Given the description of an element on the screen output the (x, y) to click on. 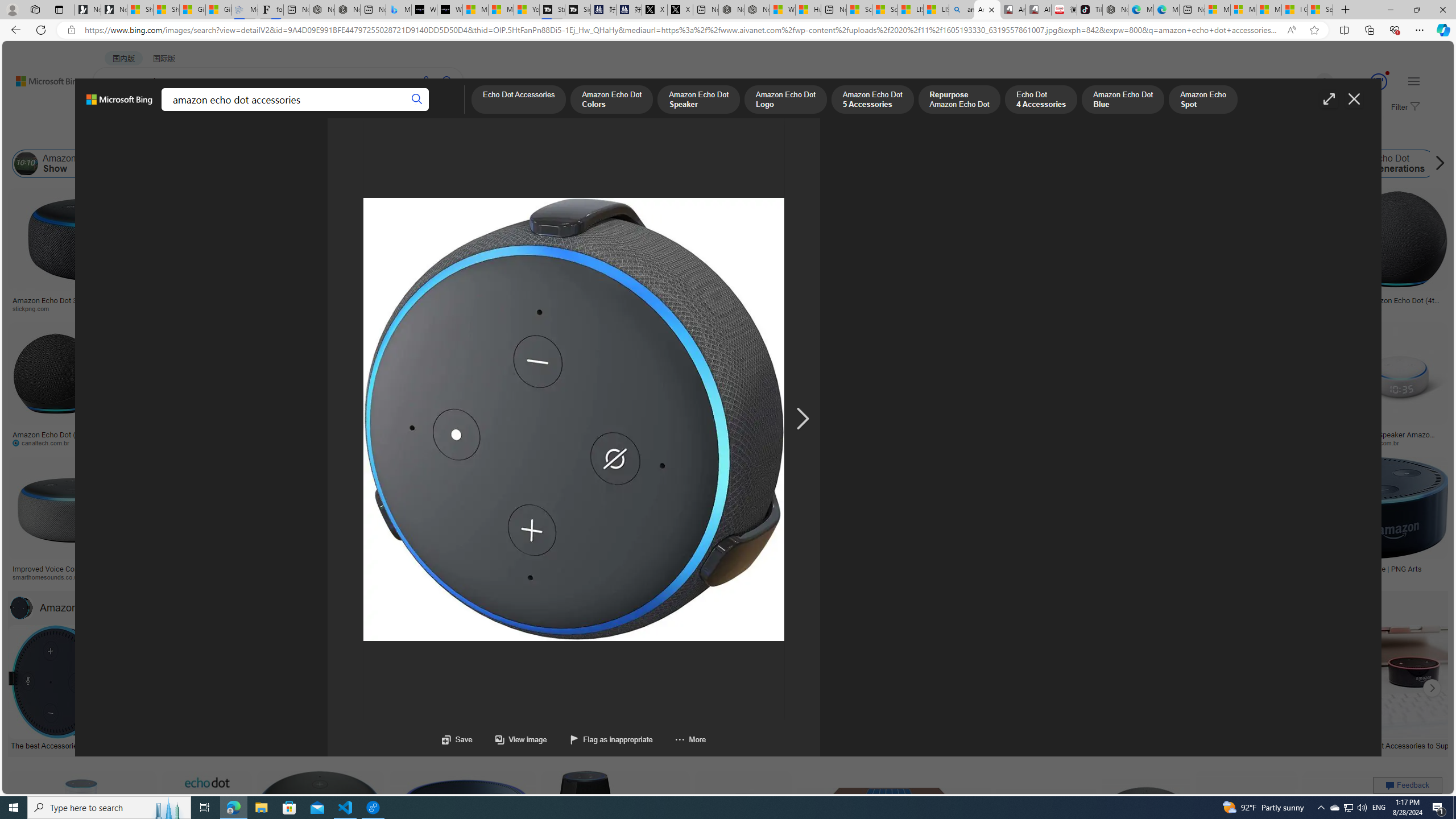
Amazon Echo Speaker (681, 163)
mediamarkt.de (537, 576)
License (377, 135)
Class: outer-circle-animation (1378, 81)
Alexa Echo Png Pic Png Arts Images (1282, 303)
Echo Dot Accessories (828, 744)
Smart Speaker Alexa Echo Dot (565, 296)
